Given the description of an element on the screen output the (x, y) to click on. 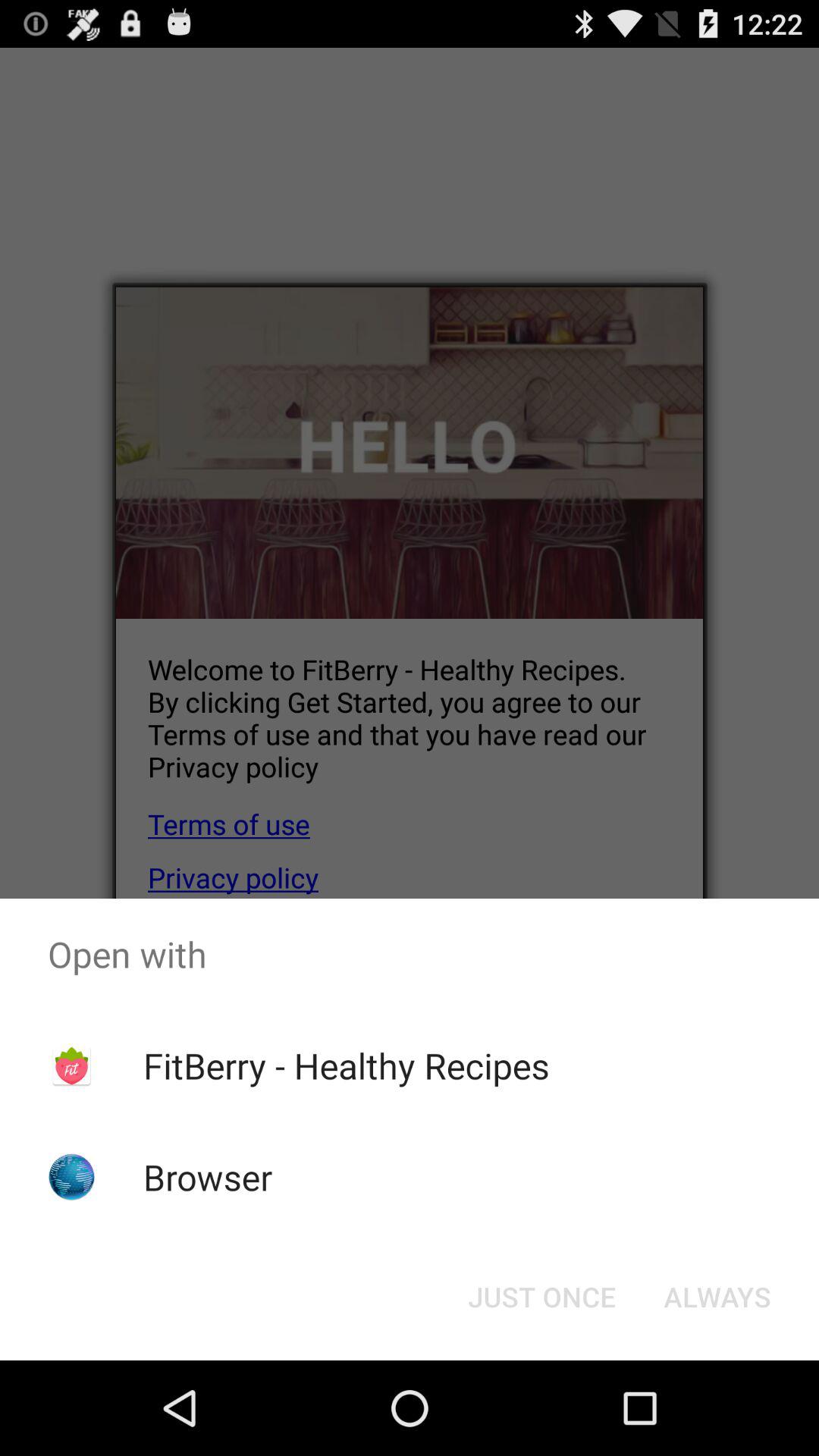
click the icon below open with icon (717, 1296)
